Given the description of an element on the screen output the (x, y) to click on. 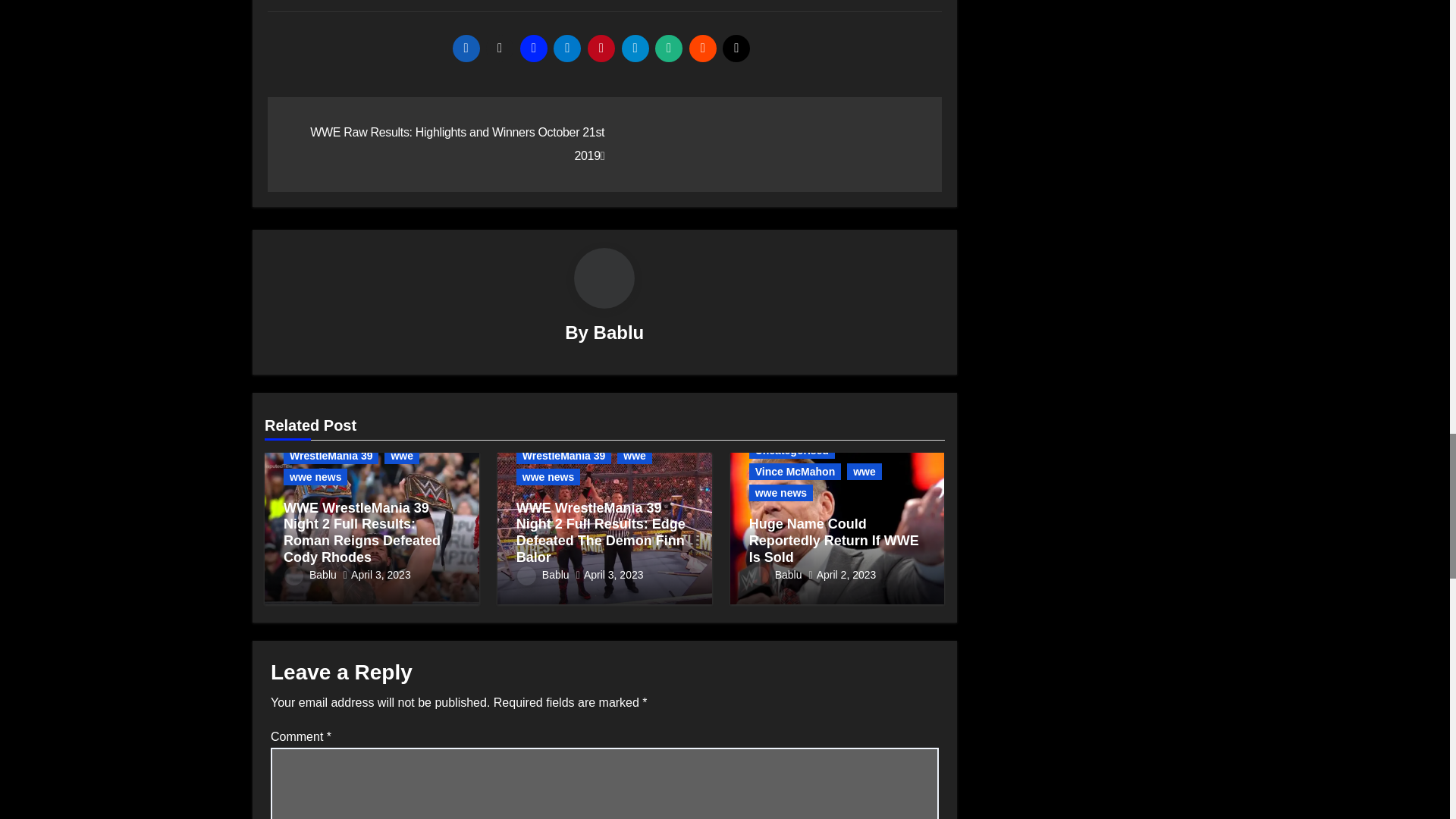
WWE Raw Results: Highlights and Winners October 21st 2019 (457, 143)
